Given the description of an element on the screen output the (x, y) to click on. 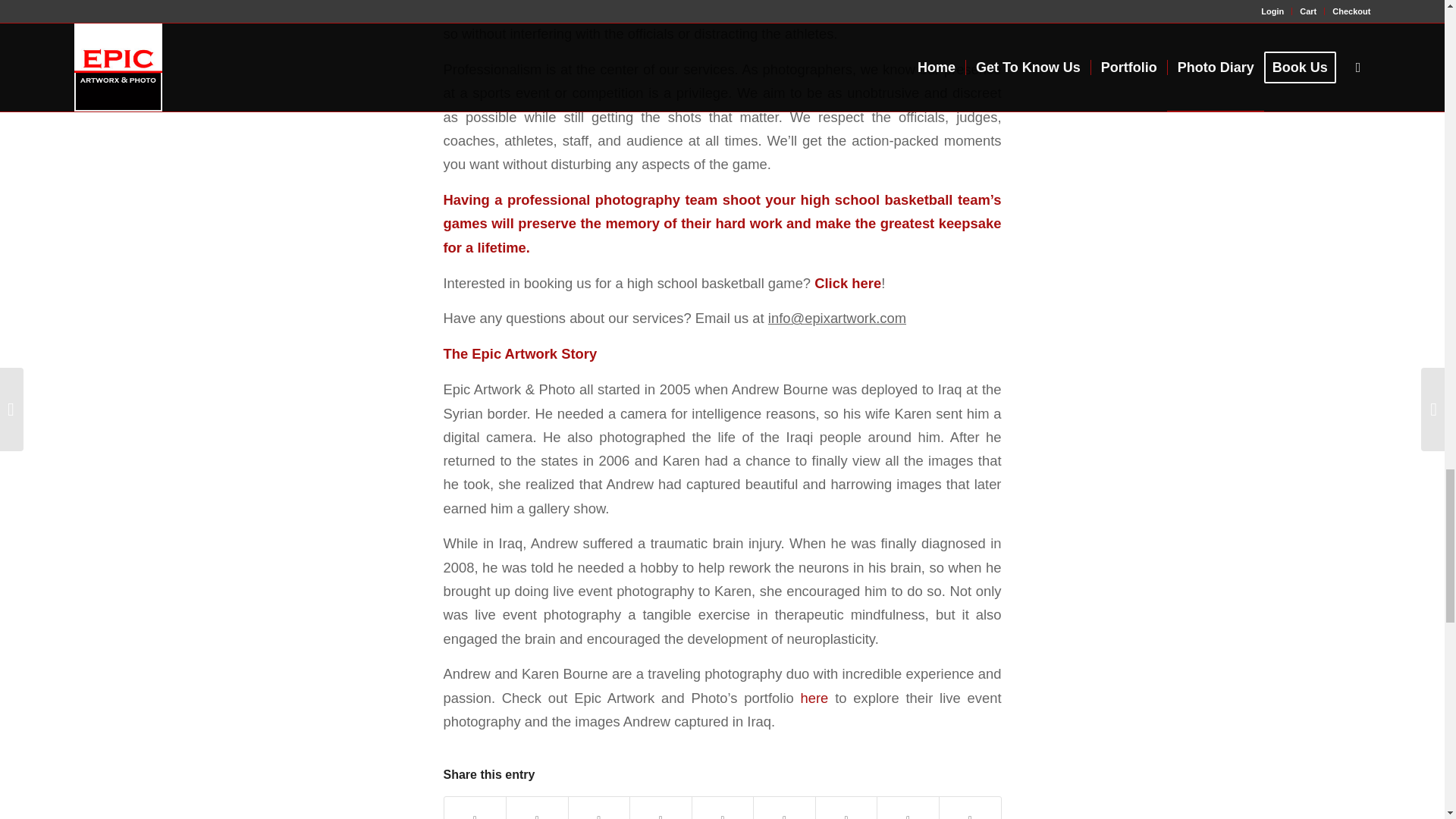
here (814, 697)
Click here (846, 283)
